Given the description of an element on the screen output the (x, y) to click on. 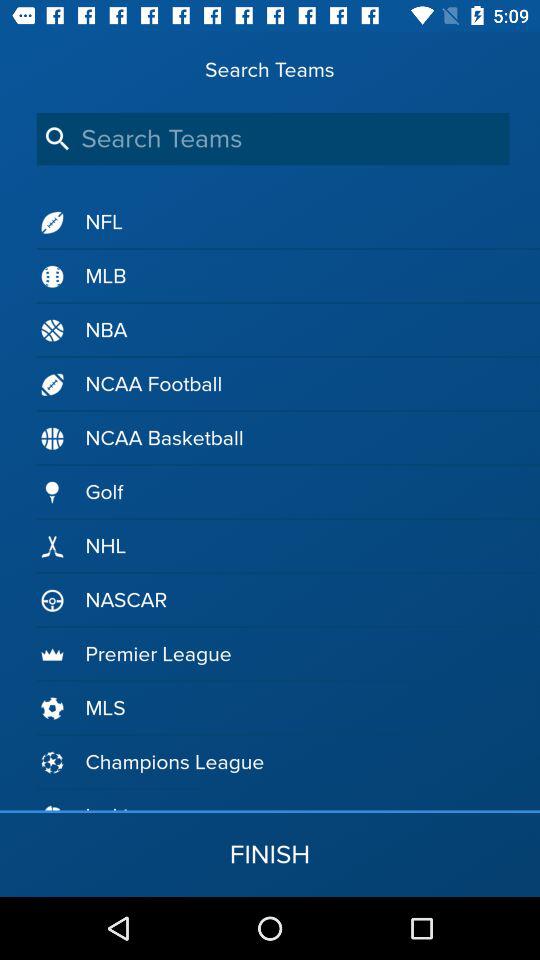
perform a search (272, 138)
